Given the description of an element on the screen output the (x, y) to click on. 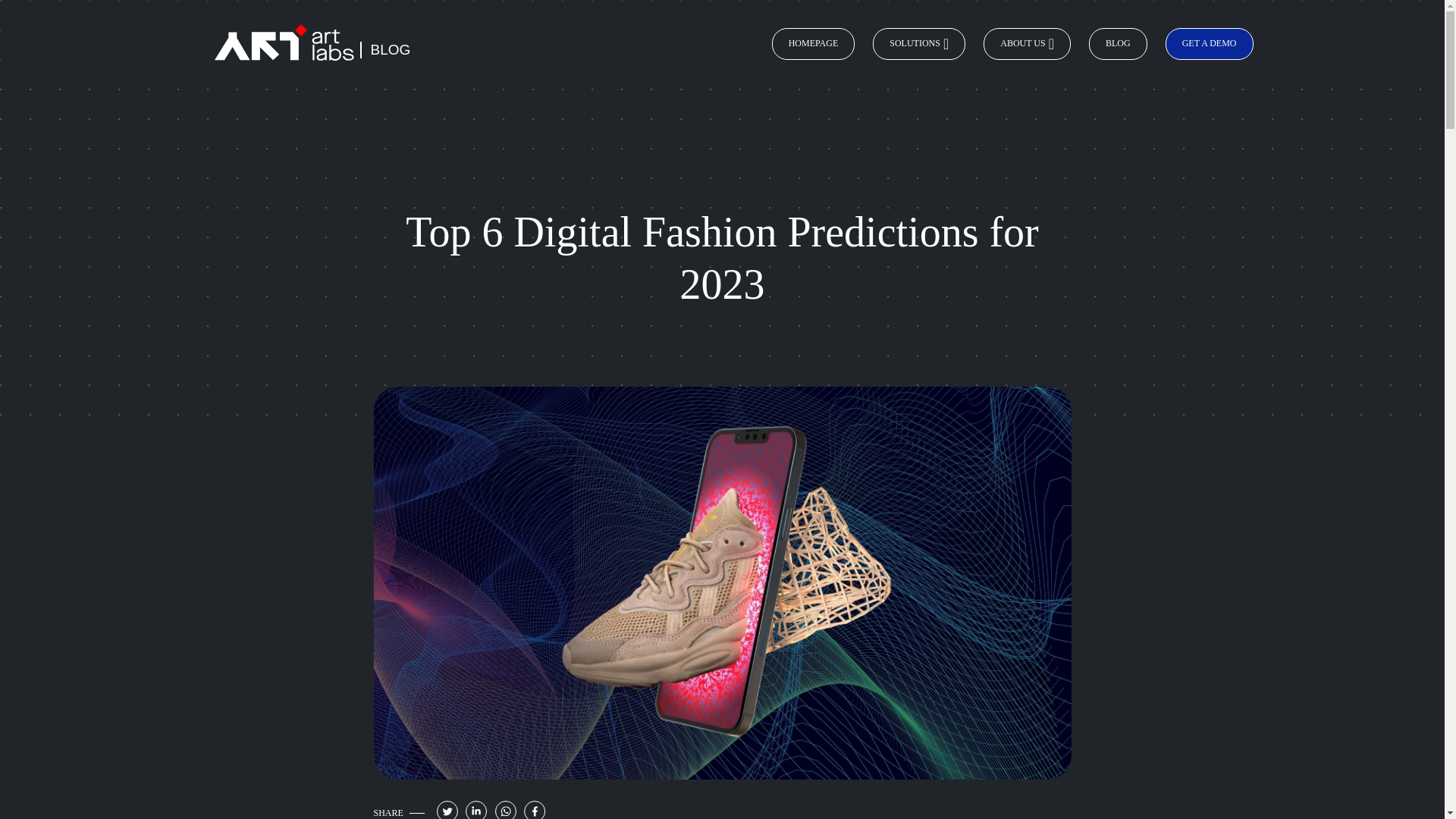
BLOG (389, 49)
BLOG (1118, 43)
HOMEPAGE (813, 43)
GET A DEMO (1209, 43)
